Given the description of an element on the screen output the (x, y) to click on. 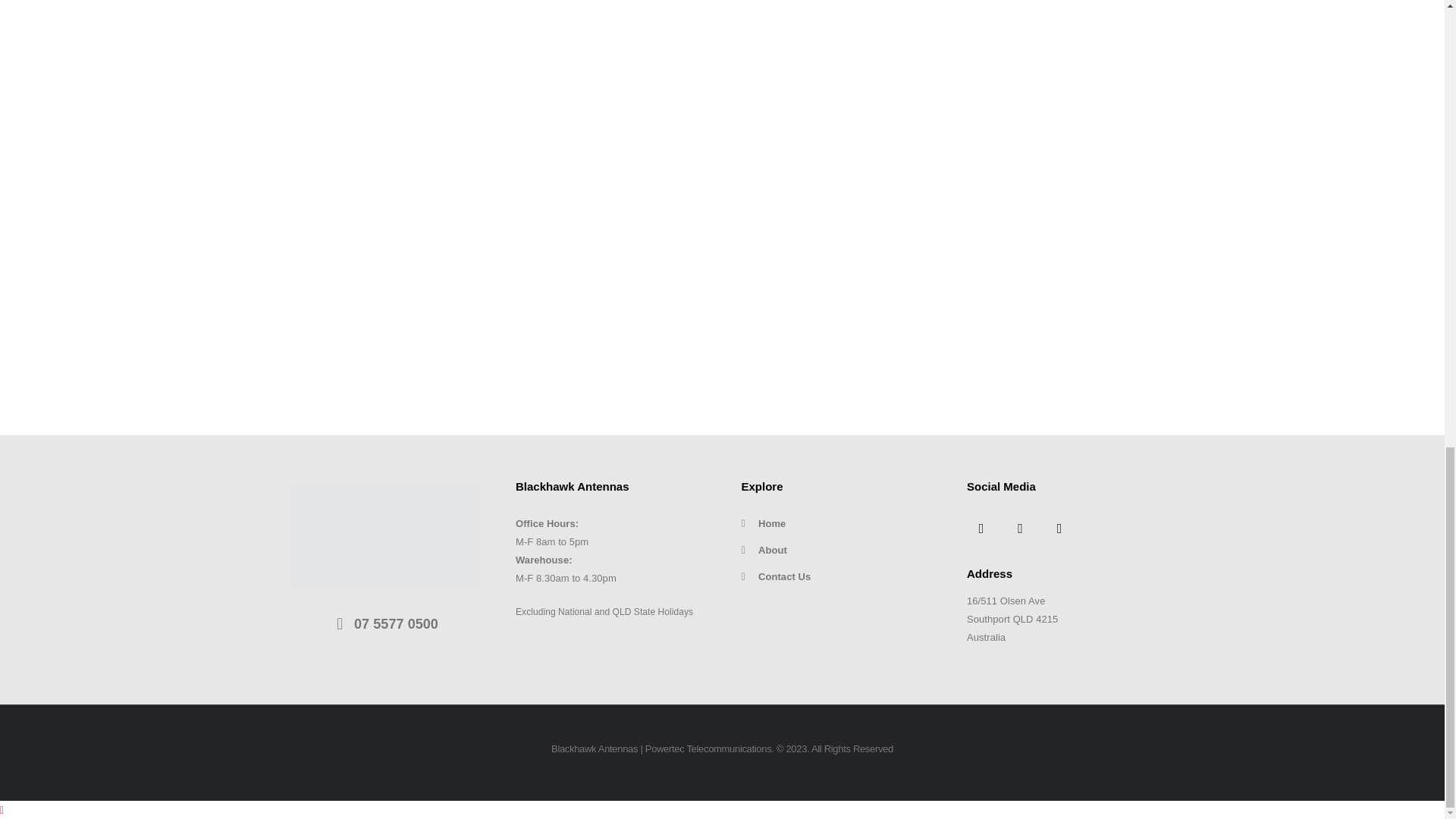
Facebook (980, 528)
Instagram (1059, 528)
Home (835, 524)
Twitter (1020, 528)
